Given the description of an element on the screen output the (x, y) to click on. 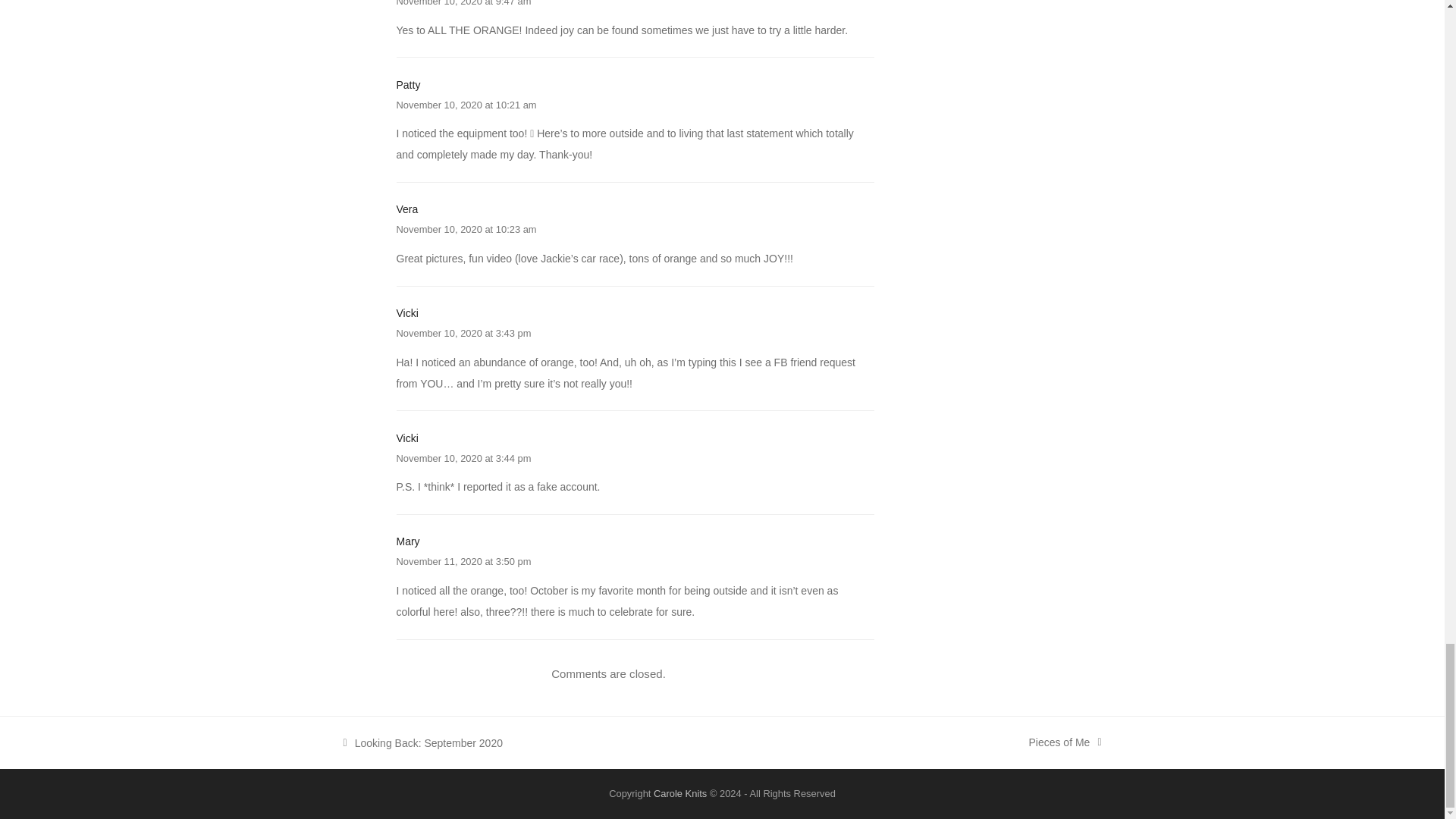
November 11, 2020 at 3:50 pm (463, 561)
Vicki (406, 313)
Mary (422, 742)
November 10, 2020 at 3:44 pm (407, 541)
Patty (1063, 742)
Vera (463, 458)
November 10, 2020 at 9:47 am (408, 84)
November 10, 2020 at 3:43 pm (406, 209)
November 10, 2020 at 10:21 am (463, 3)
Carole Knits (463, 333)
November 10, 2020 at 10:23 am (465, 104)
